Given the description of an element on the screen output the (x, y) to click on. 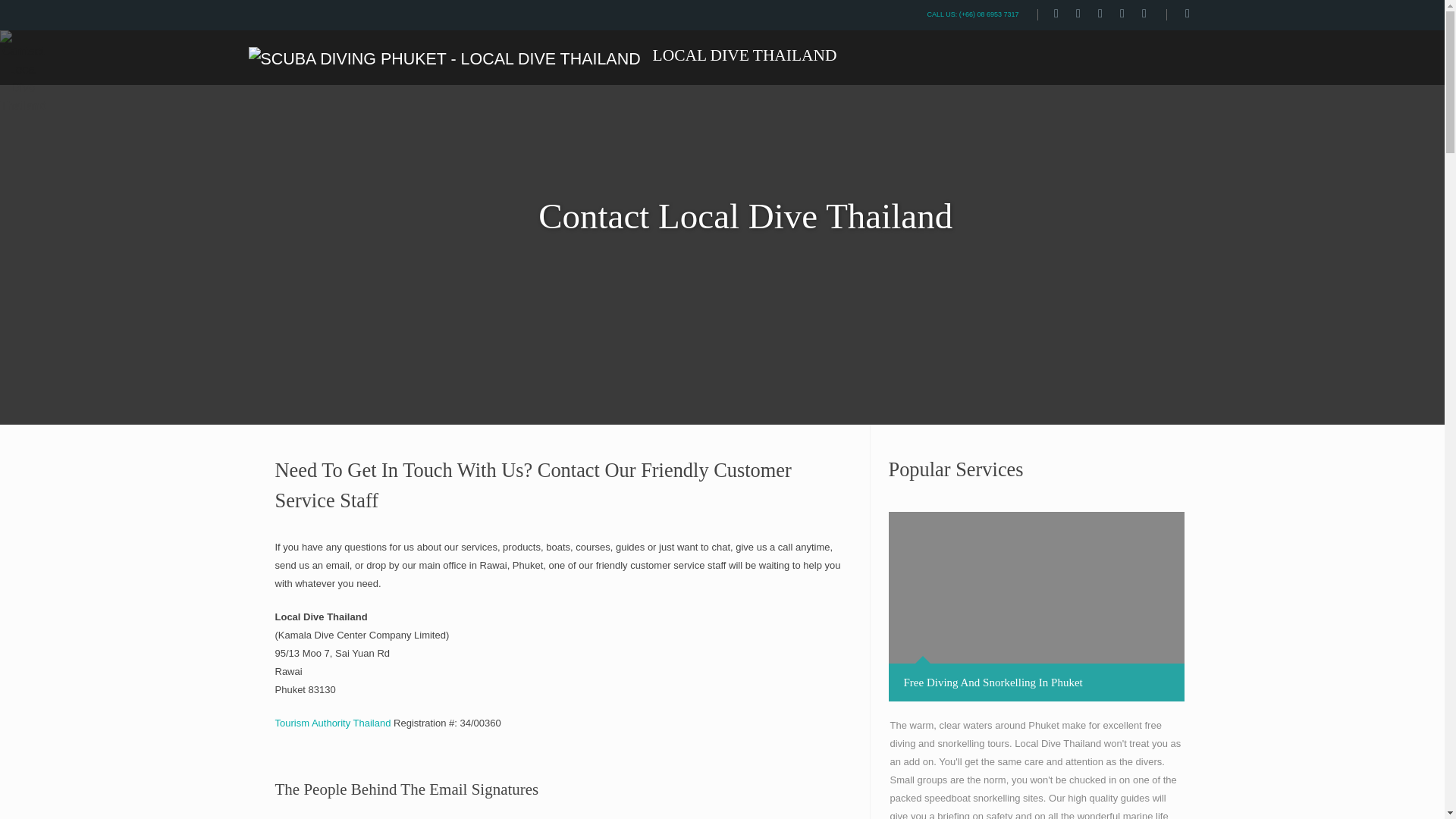
Local Dive Thailand on Twitter (1099, 13)
Local Dive Thailand on YouTube (1122, 13)
Local Dive Thailand on Facebook (1055, 13)
LOCAL DIVE THAILAND (542, 51)
Email Local Dive Thailand (1186, 13)
Scuba Diving Phuket Tour Providers - Local Dive Thailand  (542, 51)
Local Dive Thailand on Instagram (1077, 13)
Local Dive Thailand on Trip Advisor (1143, 13)
